Given the description of an element on the screen output the (x, y) to click on. 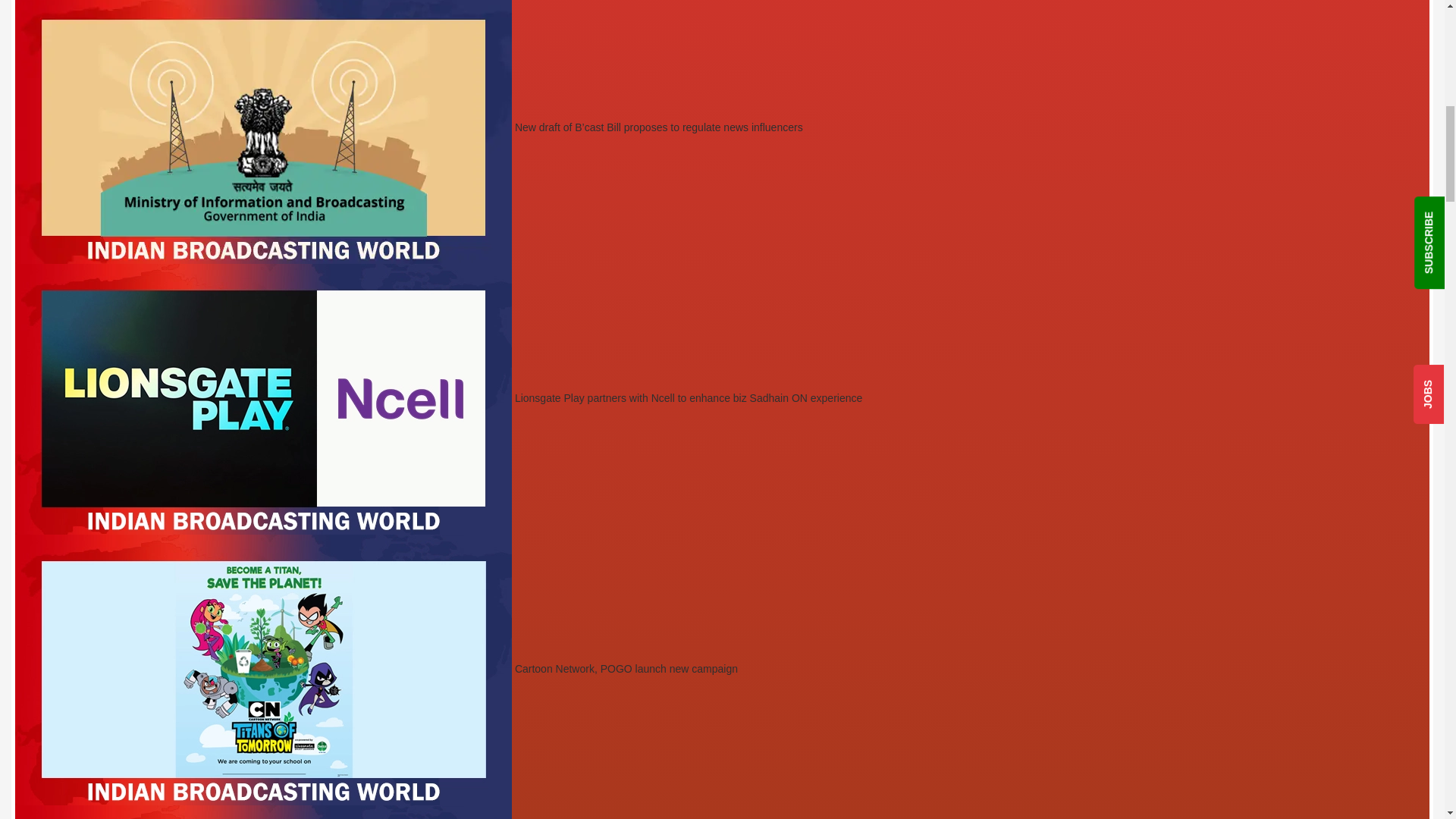
Cartoon Network, POGO launch new campaign (376, 668)
